Given the description of an element on the screen output the (x, y) to click on. 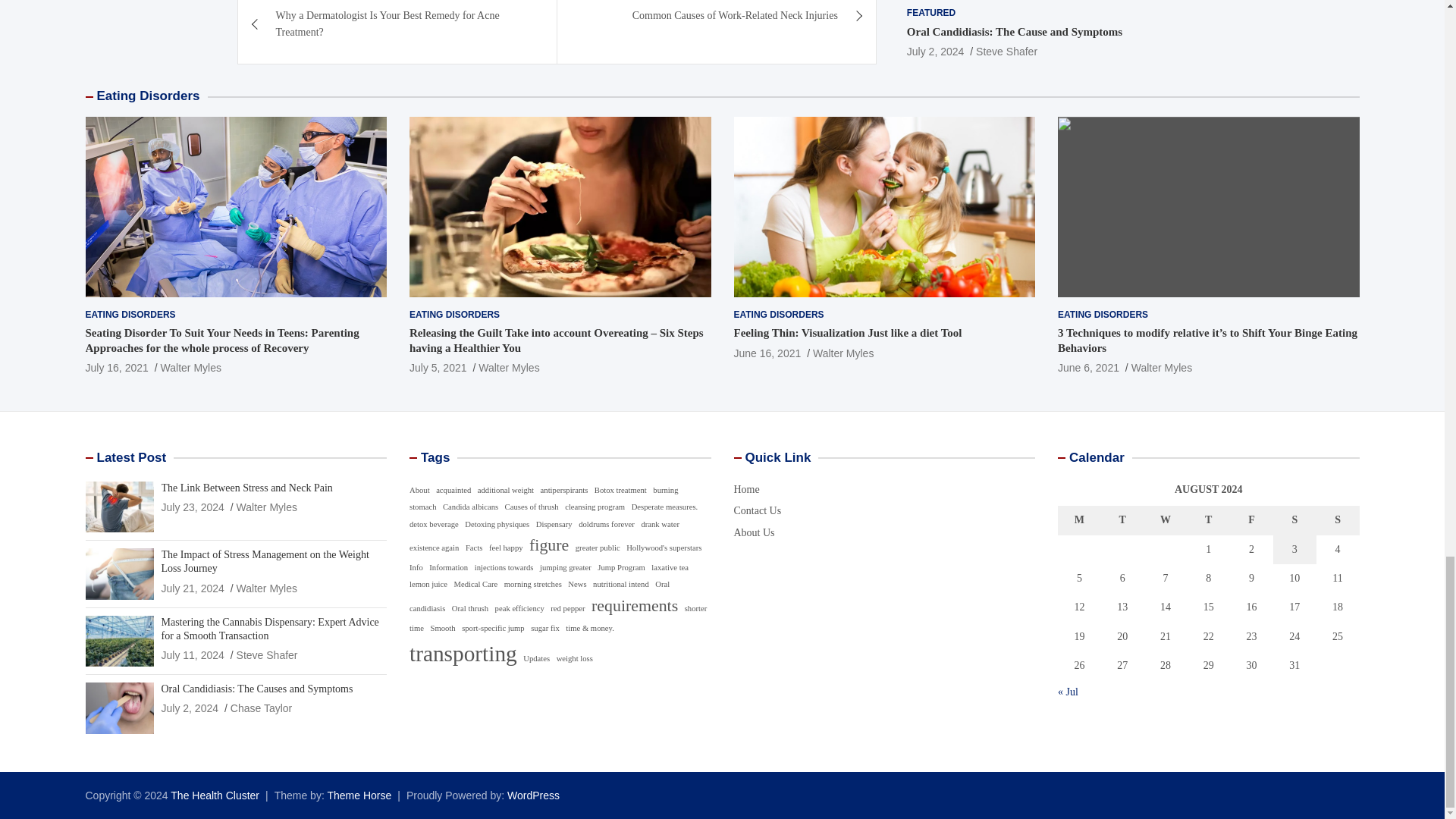
Common Causes of Work-Related Neck Injuries (716, 23)
Feeling Thin: Visualization Just like a diet Tool (767, 353)
The Link Between Stress and Neck Pain (192, 507)
Why a Dermatologist Is Your Best Remedy for Acne Treatment? (397, 32)
Oral Candidiasis: The Causes and Symptoms (189, 707)
The Impact of Stress Management on the Weight Loss Journey (192, 588)
